Given the description of an element on the screen output the (x, y) to click on. 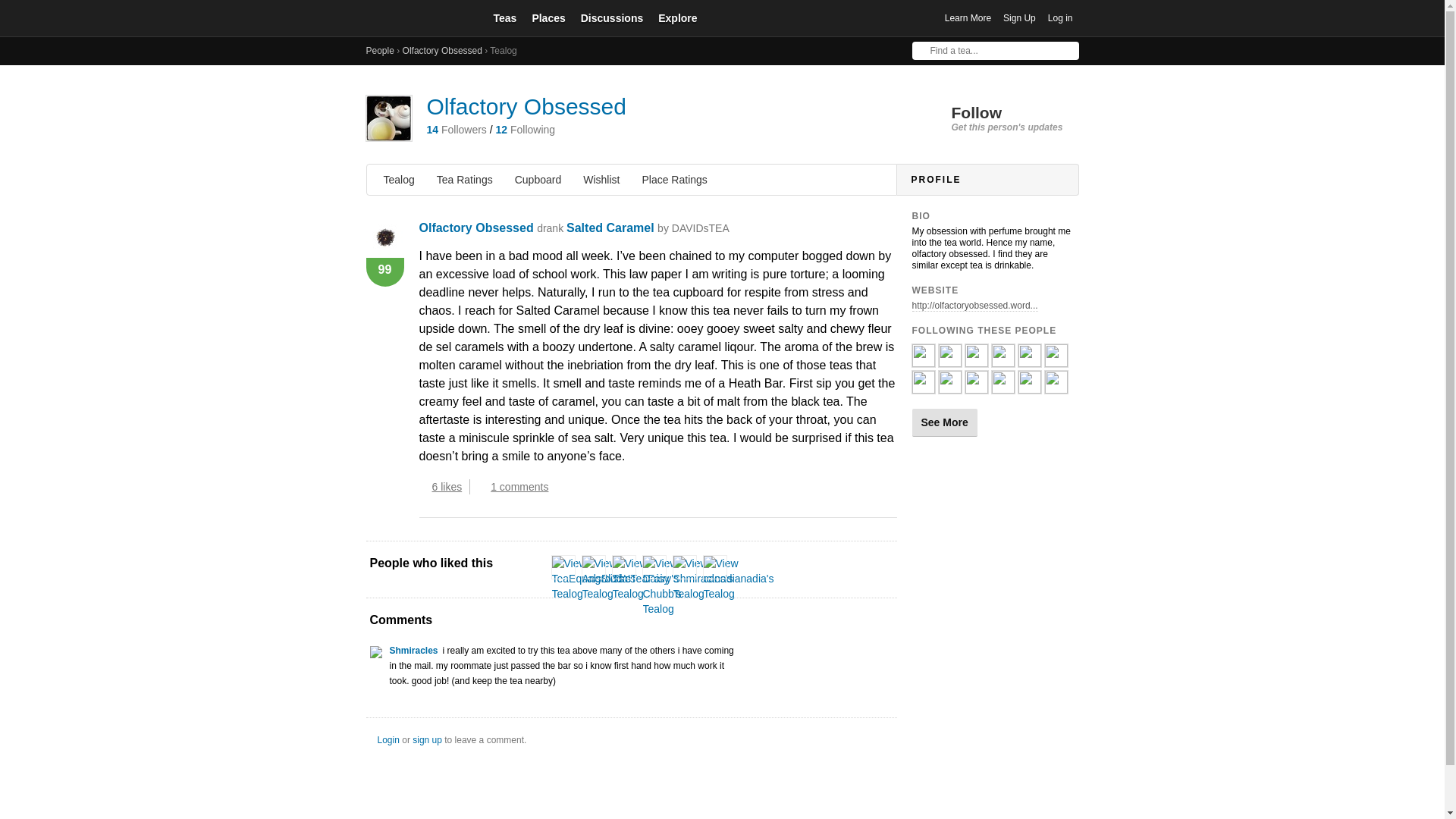
People (379, 50)
Olfactory Obsessed (526, 106)
View Angrboda's Tealog (608, 578)
Salted Caramel by DAVIDsTEA (647, 227)
1 comments (516, 486)
View TeaEqualsBliss's Tealog (591, 578)
Tealog (398, 179)
6 likes (451, 486)
Cupboard (537, 179)
14 Followers (456, 129)
